Given the description of an element on the screen output the (x, y) to click on. 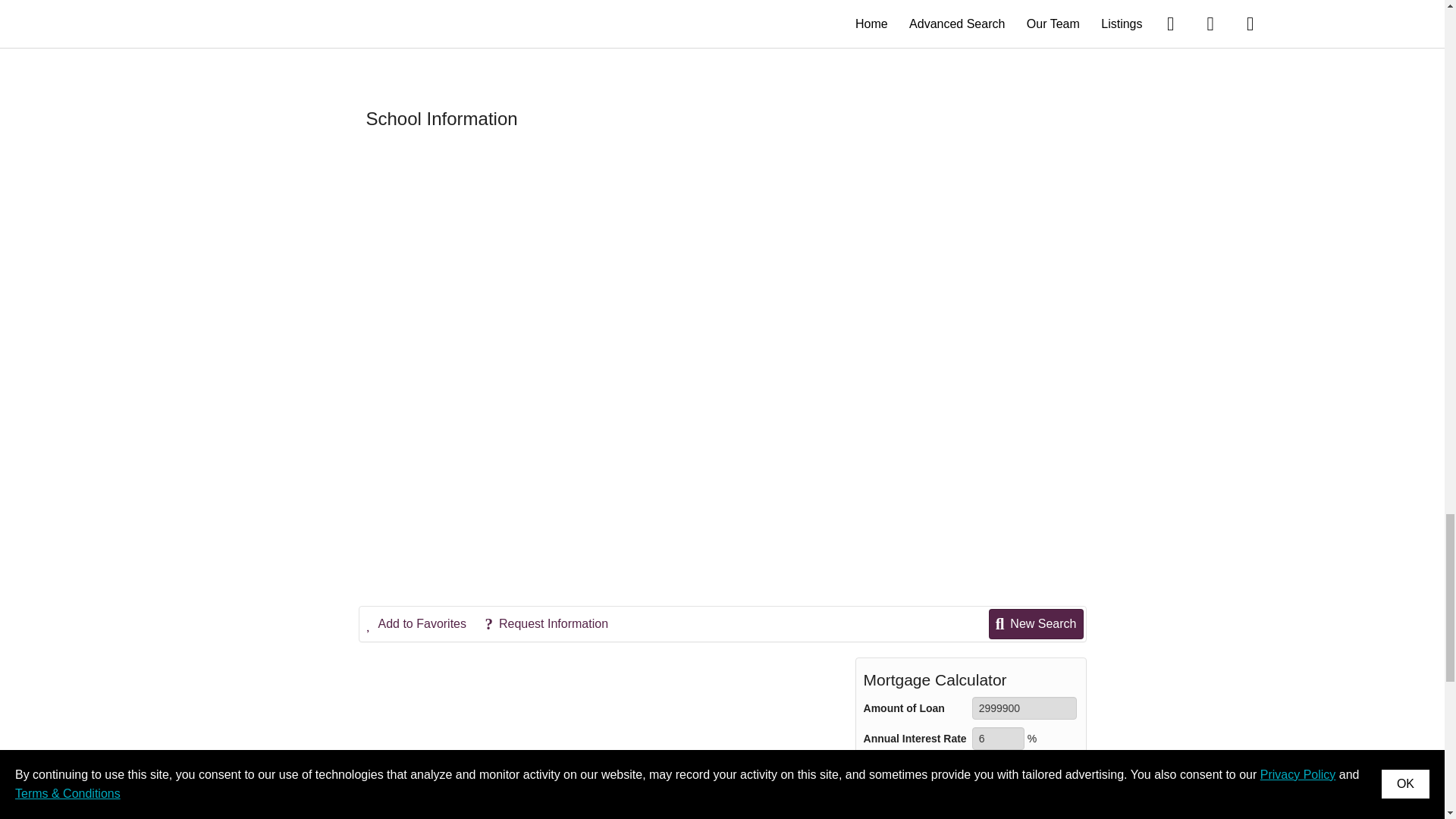
2999900 (1024, 707)
6 (998, 738)
30 (998, 768)
Walk Score (721, 38)
